Given the description of an element on the screen output the (x, y) to click on. 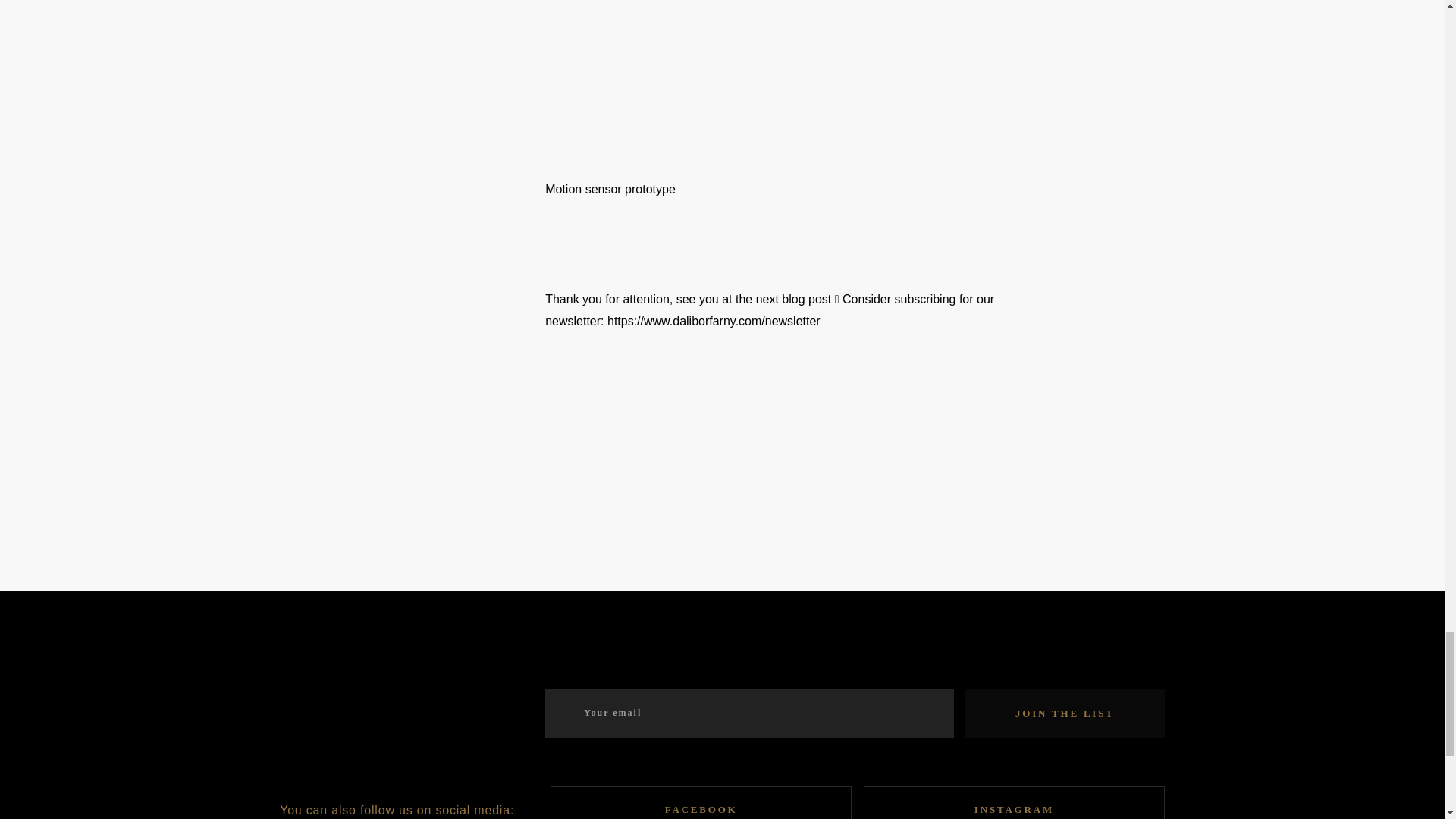
Join the list (1064, 712)
INSTAGRAM (1013, 802)
FACEBOOK (700, 802)
Email (748, 712)
Motion sensor prototype (809, 97)
JOIN THE LIST (1064, 712)
